Given the description of an element on the screen output the (x, y) to click on. 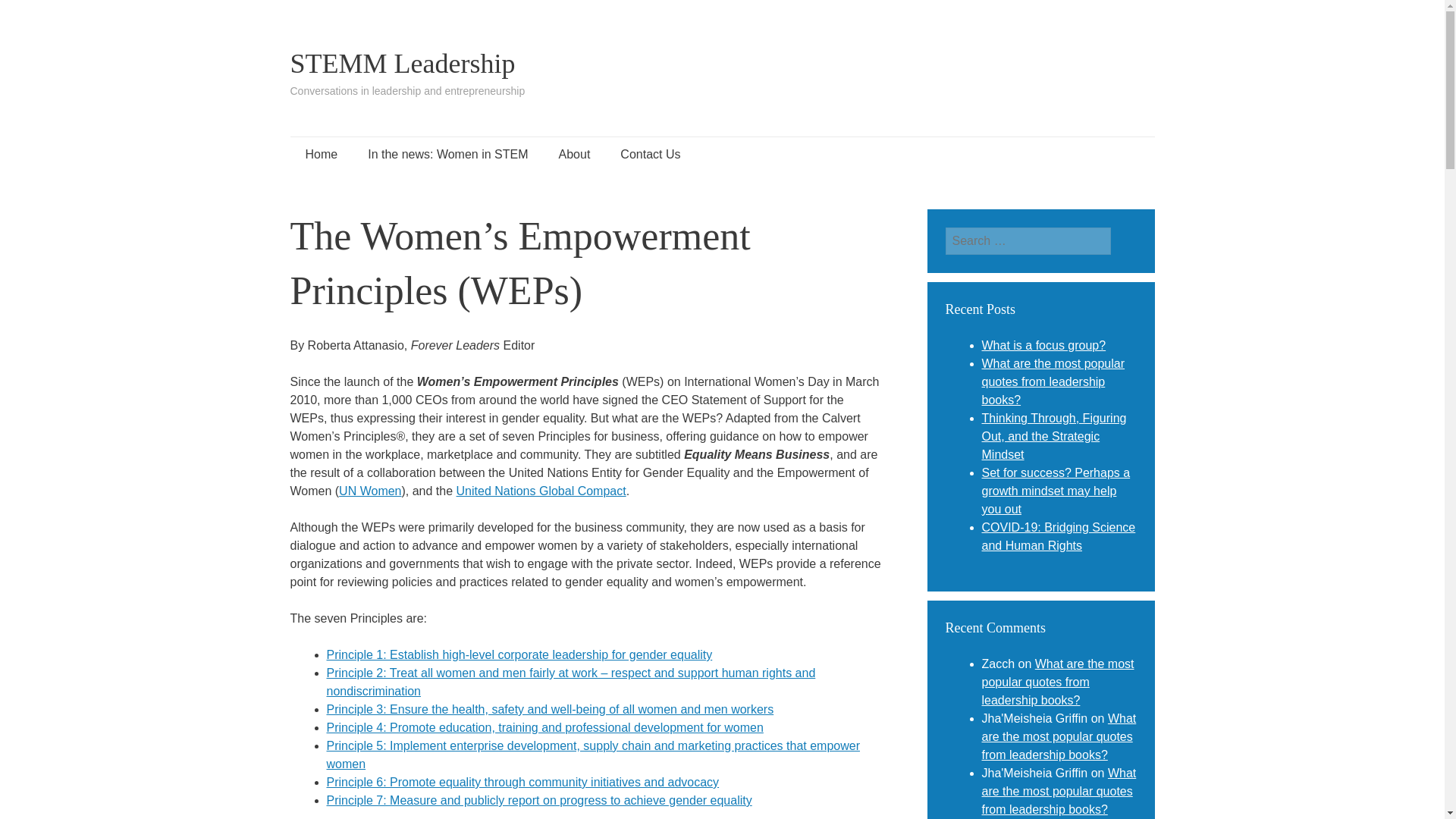
United Nations Global Compact (541, 490)
Contact Us (650, 154)
STEMM Leadership (402, 63)
About (574, 154)
Home (320, 154)
Skip to content (344, 154)
In the news: Women in STEM (447, 154)
UN Women (370, 490)
